Given the description of an element on the screen output the (x, y) to click on. 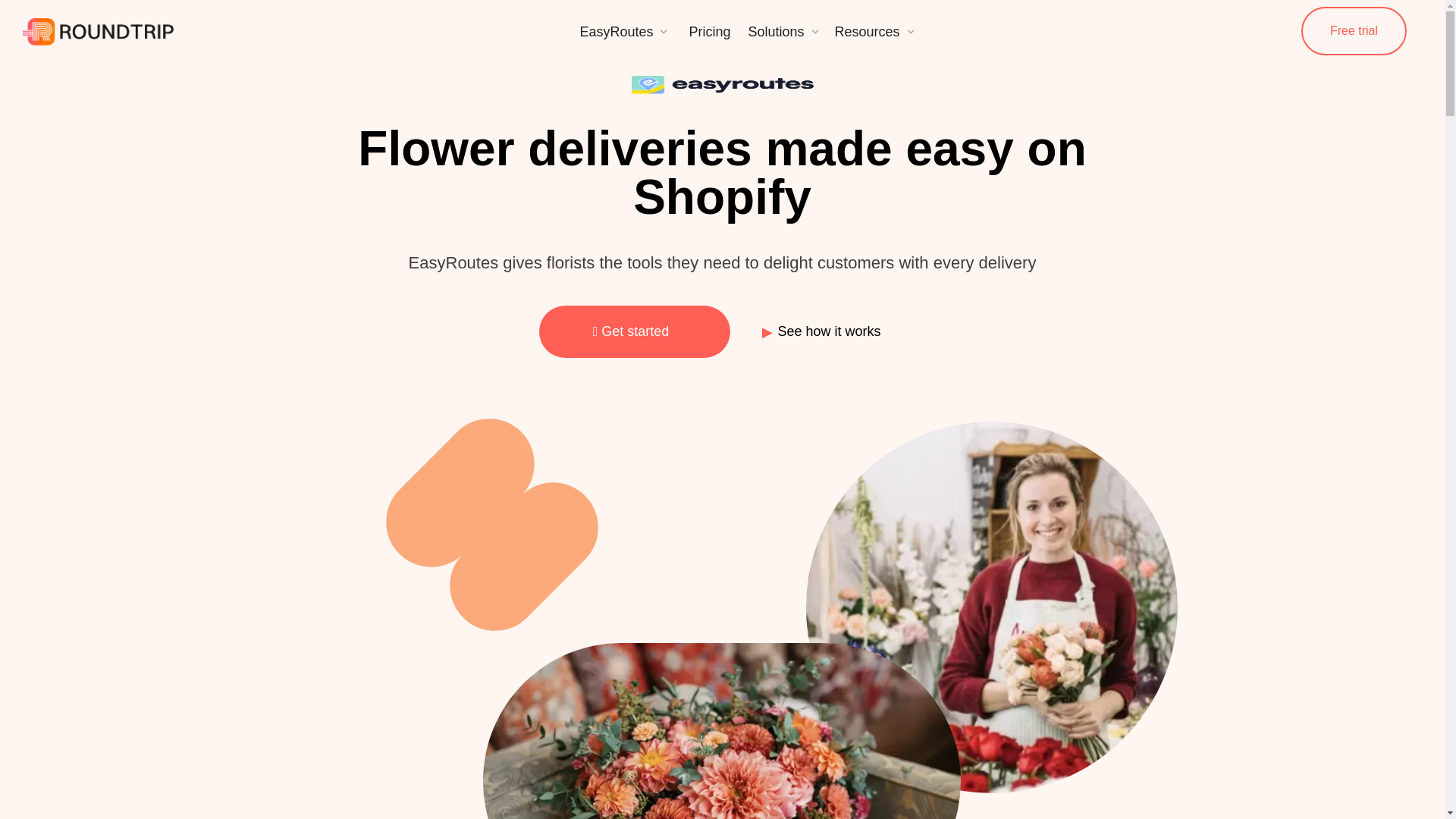
Free trial (1353, 29)
Pricing (709, 30)
